Given the description of an element on the screen output the (x, y) to click on. 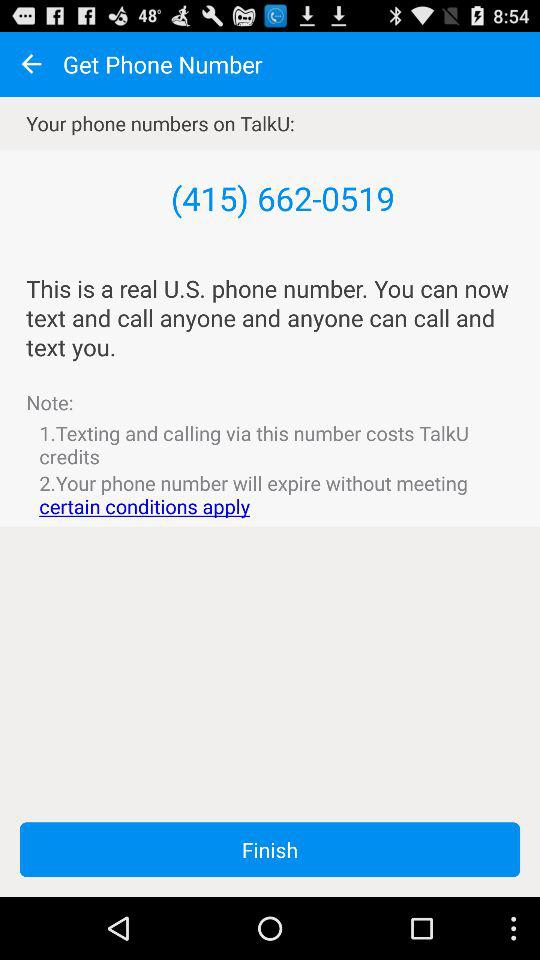
choose the icon above the finish icon (269, 494)
